Given the description of an element on the screen output the (x, y) to click on. 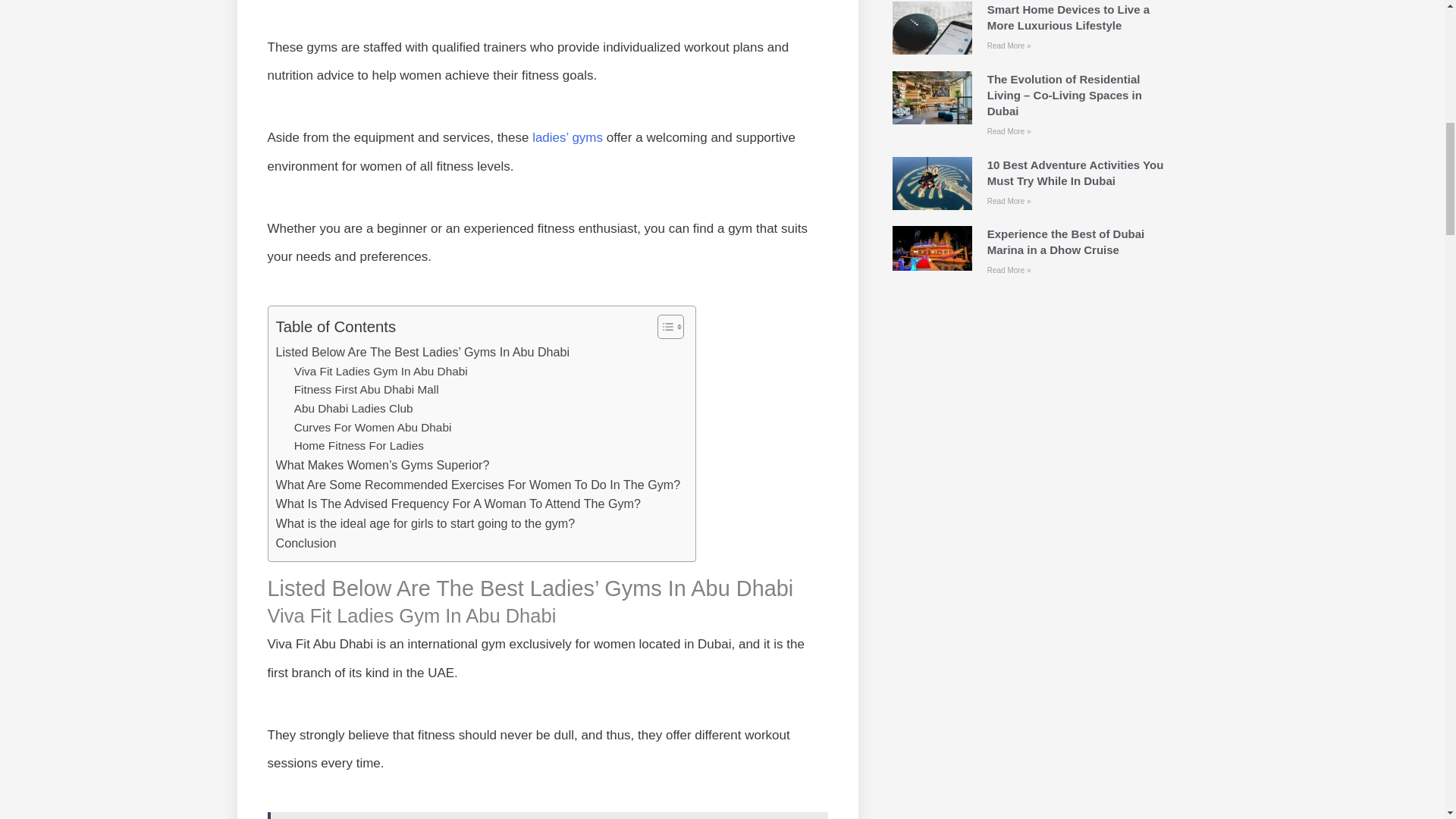
What is the ideal age for girls to start going to the gym? (425, 523)
Fitness First Abu Dhabi Mall (366, 389)
Viva Fit Ladies Gym In Abu Dhabi (380, 371)
Conclusion (306, 543)
Curves For Women Abu Dhabi (372, 427)
What Is The Advised Frequency For A Woman To Attend The Gym? (458, 504)
Abu Dhabi Ladies Club (353, 408)
Home Fitness For Ladies (358, 445)
Abu Dhabi Ladies Club (353, 408)
Viva Fit Ladies Gym In Abu Dhabi (380, 371)
Fitness First Abu Dhabi Mall (366, 389)
